Given the description of an element on the screen output the (x, y) to click on. 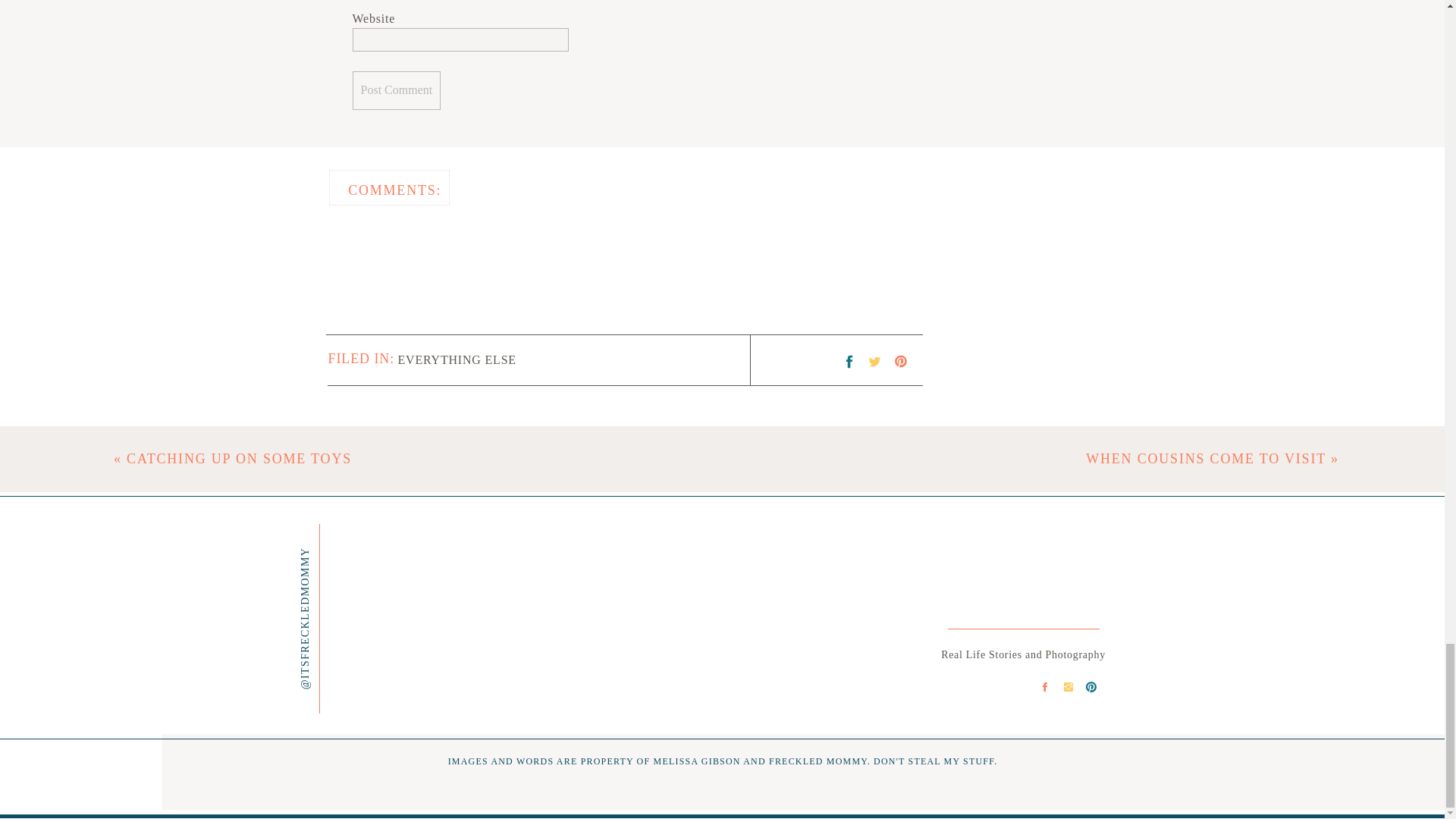
Post Comment (396, 90)
